Given the description of an element on the screen output the (x, y) to click on. 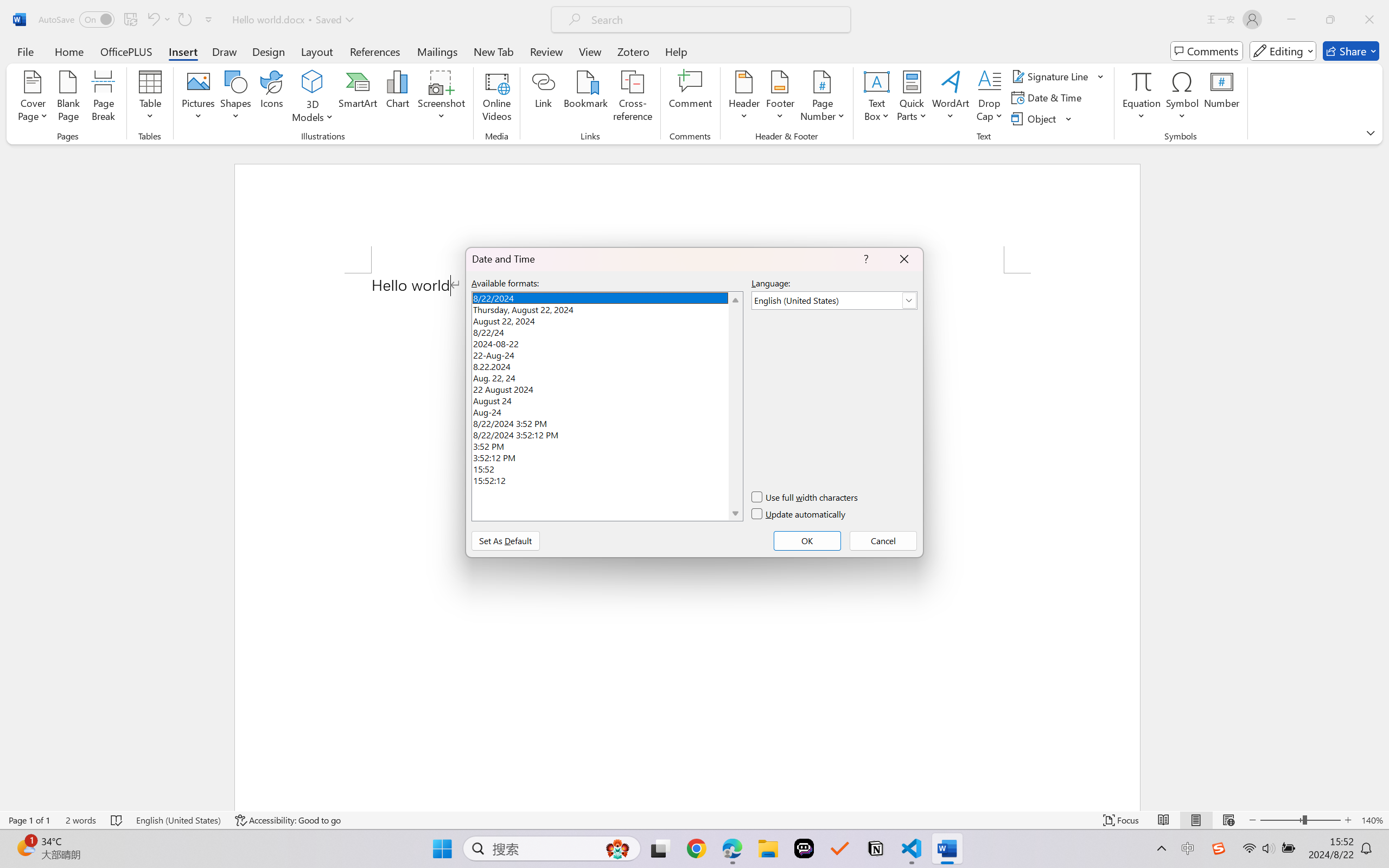
Can't Undo (158, 19)
Zoom In (1348, 819)
Can't Repeat (184, 19)
Header (743, 97)
2024-08-22 (606, 342)
Poe (804, 848)
8/22/2024 3:52:12 PM (606, 433)
8.22.2024 (606, 365)
Date & Time... (1048, 97)
Read Mode (1163, 819)
View (589, 51)
Draw (224, 51)
